Given the description of an element on the screen output the (x, y) to click on. 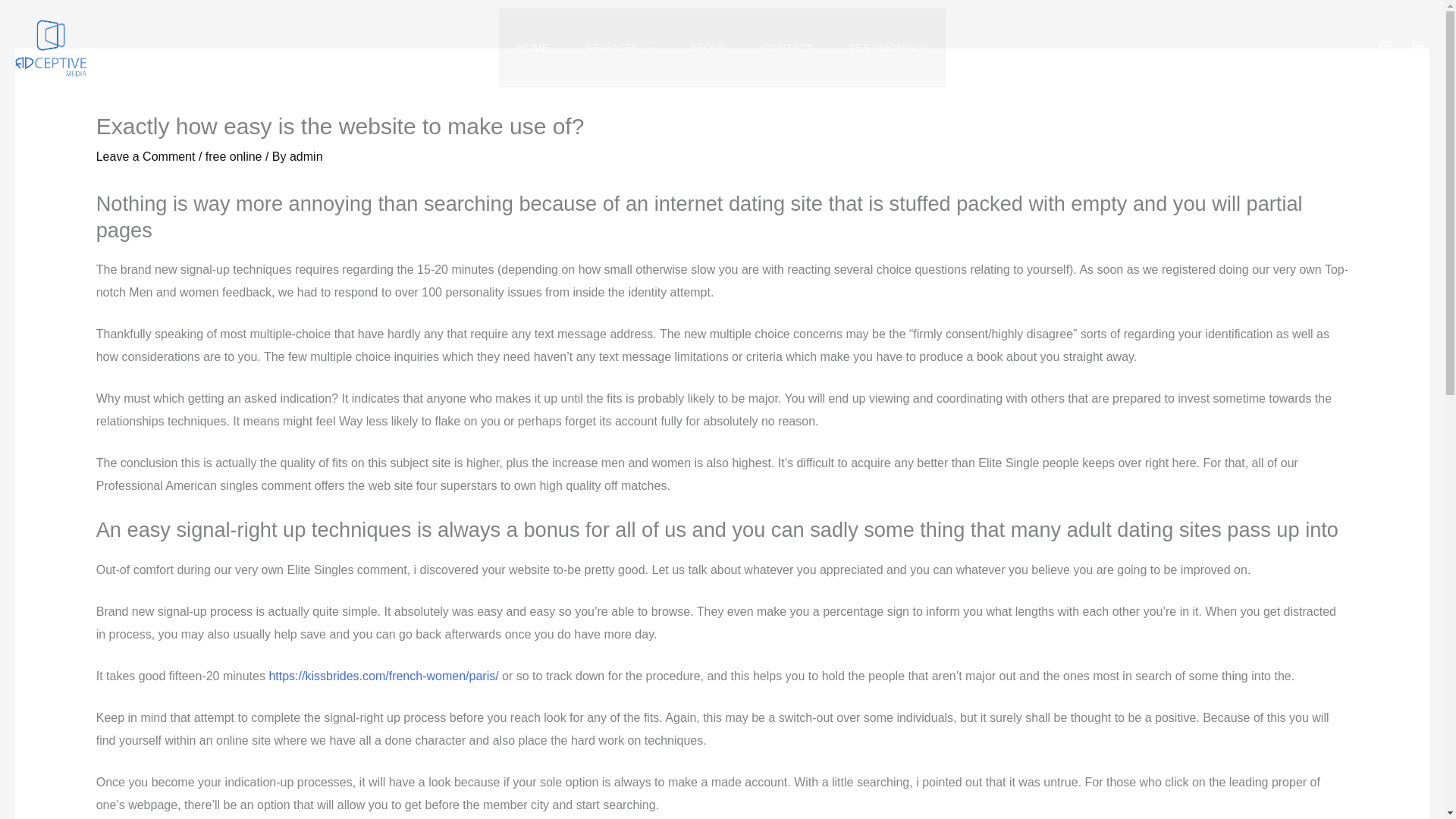
TESTIMONIALS (887, 47)
Leave a Comment (145, 155)
ABOUT (707, 47)
View all posts by admin (306, 155)
SERVICES (619, 47)
free online (233, 155)
admin (306, 155)
CONTACT (787, 47)
